Given the description of an element on the screen output the (x, y) to click on. 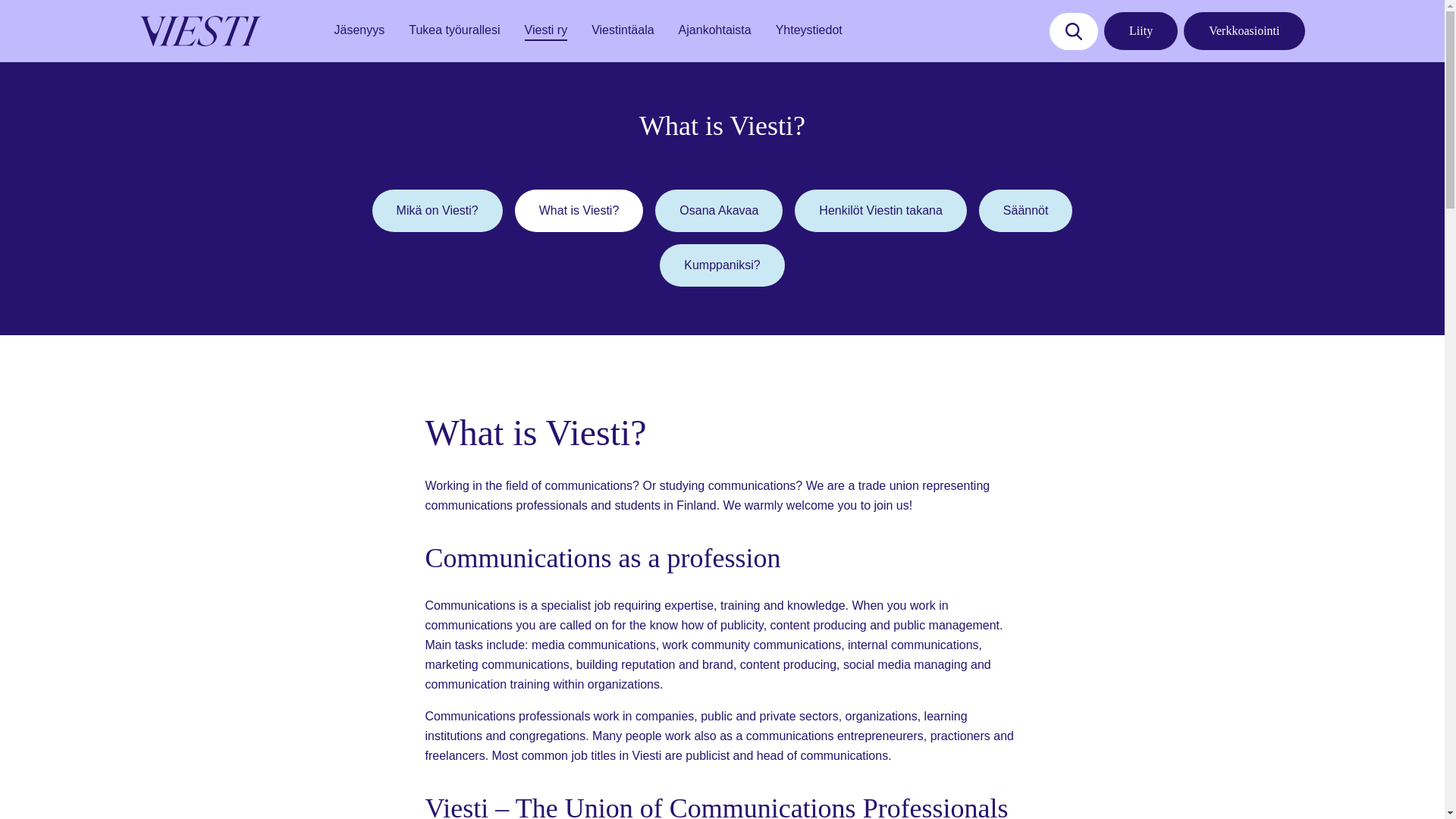
What is Viesti? (579, 210)
Kumppaniksi? (721, 265)
Viesti ry (545, 29)
Verkkoasiointi (1243, 30)
Ajankohtaista (714, 29)
Yhteystiedot (809, 29)
Osana Akavaa (719, 210)
Liity (1140, 30)
